Given the description of an element on the screen output the (x, y) to click on. 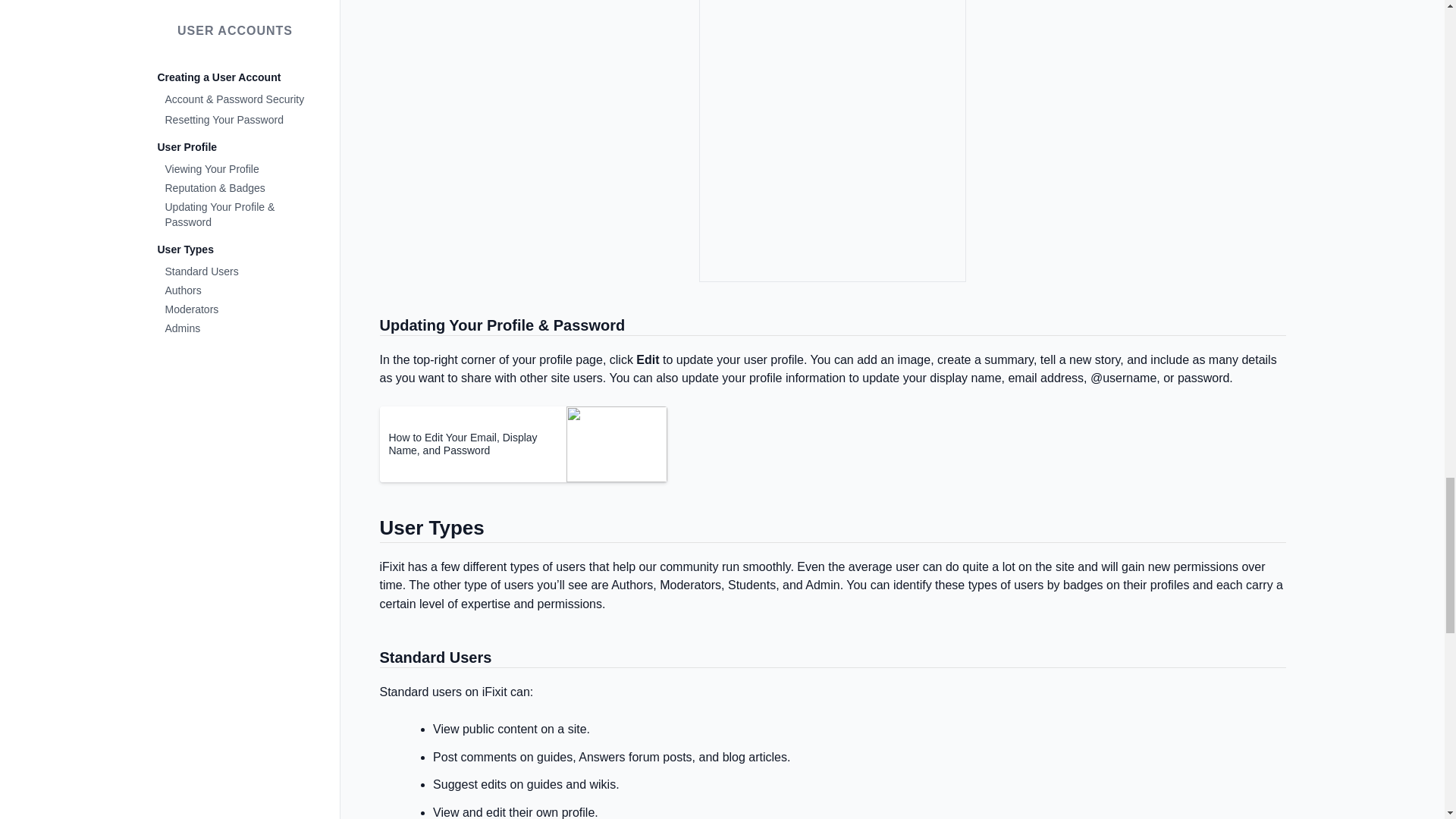
Link to this section (371, 658)
Link to this section (371, 326)
How to Edit Your Email, Display Name, and Password (472, 444)
Link to this section (371, 530)
